Given the description of an element on the screen output the (x, y) to click on. 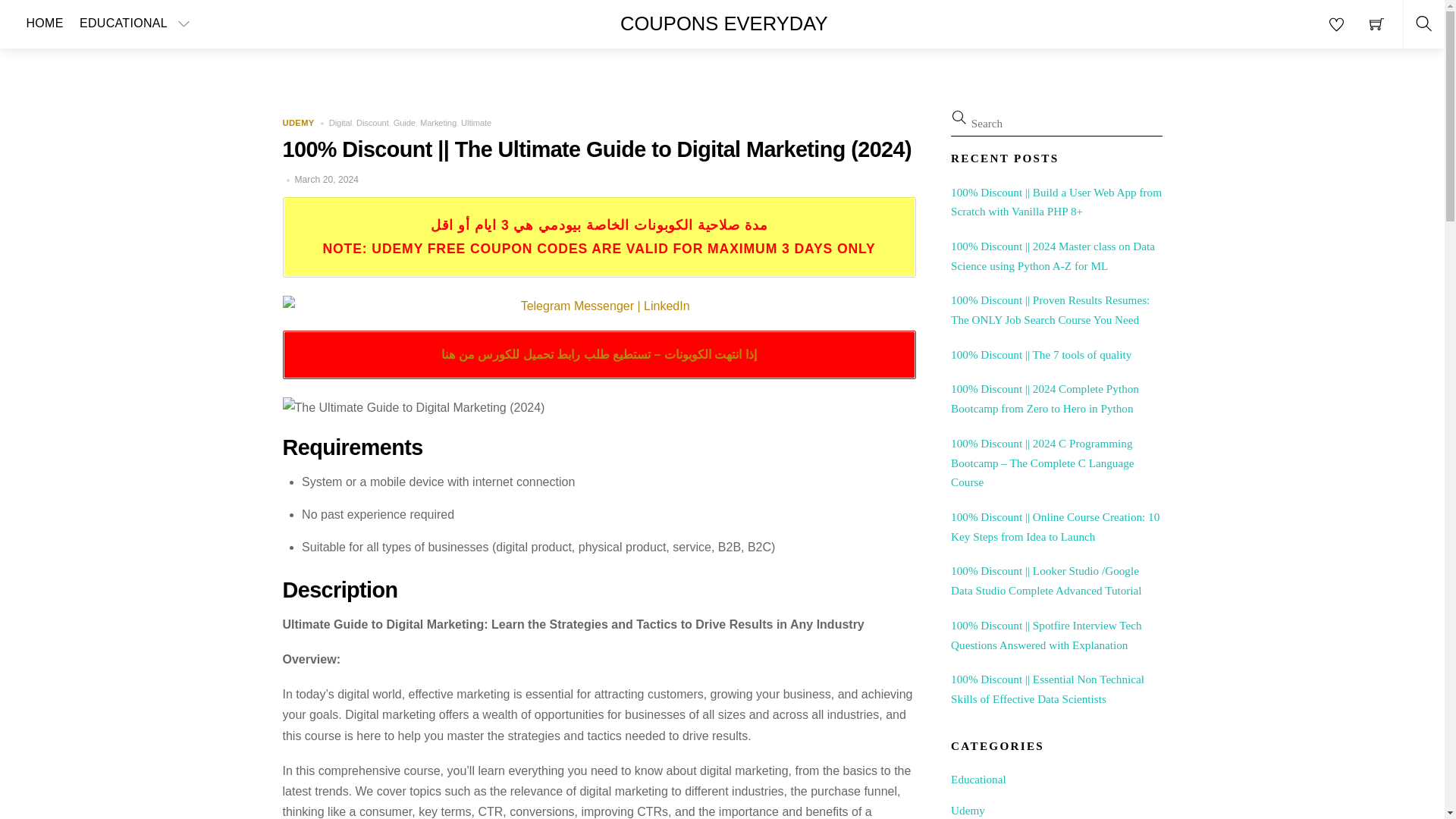
Digital (340, 122)
EDUCATIONAL (137, 24)
Ultimate (476, 122)
UDEMY (298, 122)
COUPONS EVERYDAY (724, 23)
Marketing (438, 122)
Guide (403, 122)
Coupons everyday (724, 23)
Discount (372, 122)
HOME (44, 24)
